Given the description of an element on the screen output the (x, y) to click on. 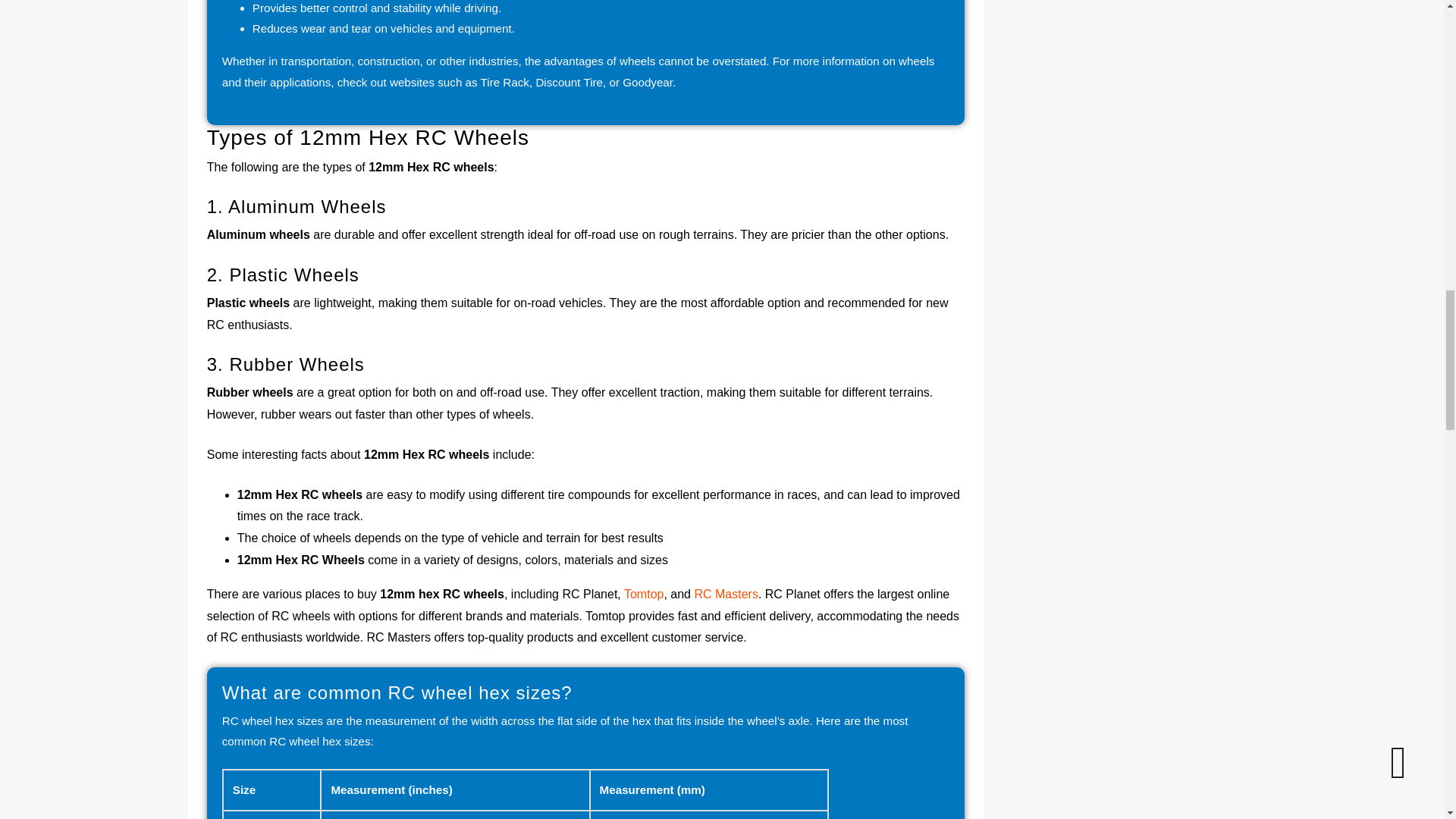
Tomtop (643, 594)
RC Masters (725, 594)
